Given the description of an element on the screen output the (x, y) to click on. 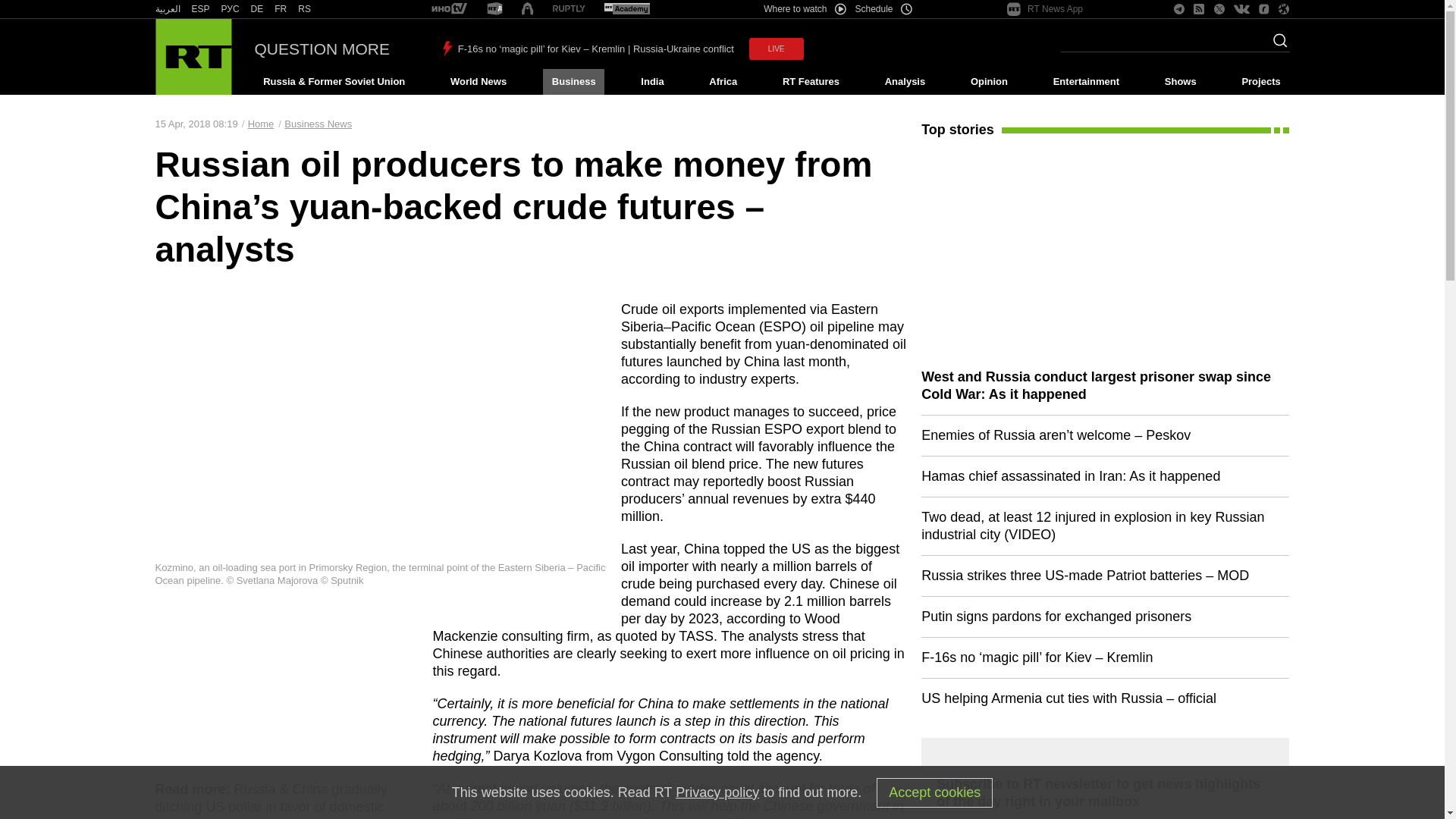
RT  (280, 9)
DE (256, 9)
Projects (1261, 81)
Schedule (884, 9)
RT  (448, 9)
Search (1276, 44)
RT  (569, 8)
Search (1276, 44)
World News (478, 81)
RT  (626, 9)
RT  (494, 9)
Entertainment (1085, 81)
Where to watch (803, 9)
RT  (304, 9)
RT  (166, 9)
